Given the description of an element on the screen output the (x, y) to click on. 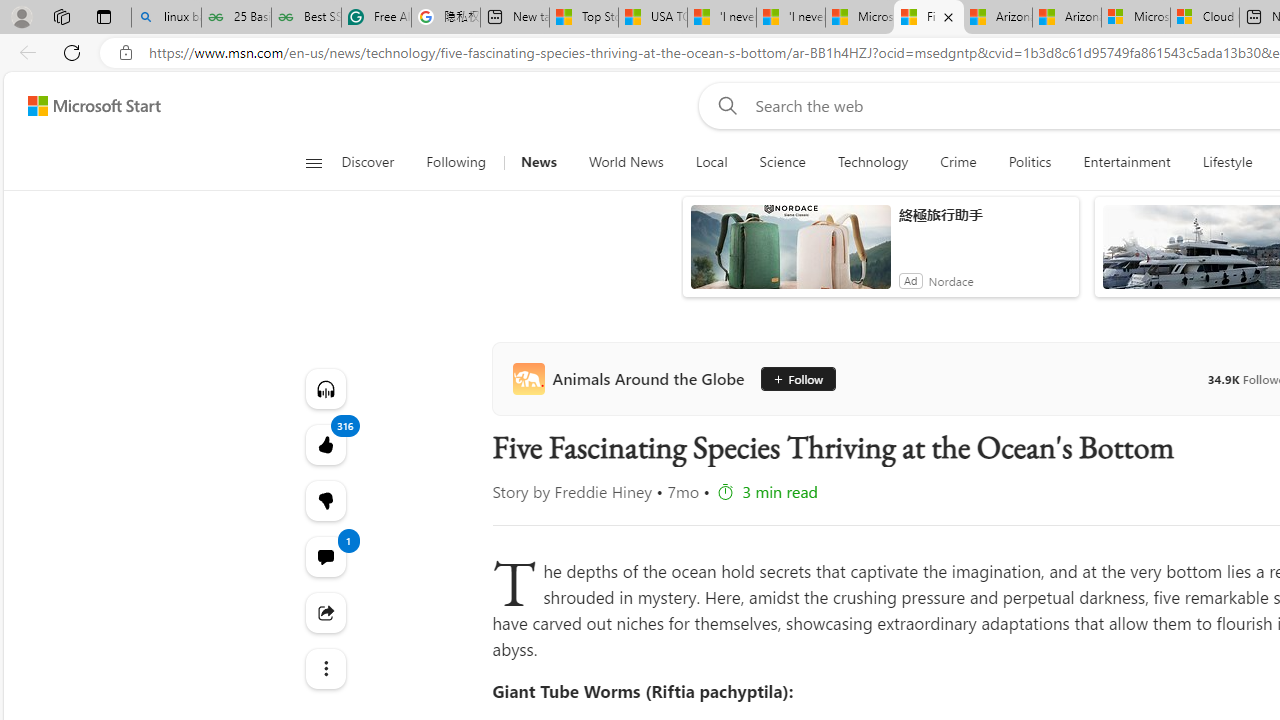
linux basic - Search (165, 17)
Animals Around the Globe (632, 378)
Lifestyle (1227, 162)
Class: at-item (324, 668)
Technology (872, 162)
World News (625, 162)
Nordace (951, 280)
USA TODAY - MSN (653, 17)
Web search (724, 105)
Entertainment (1126, 162)
